Given the description of an element on the screen output the (x, y) to click on. 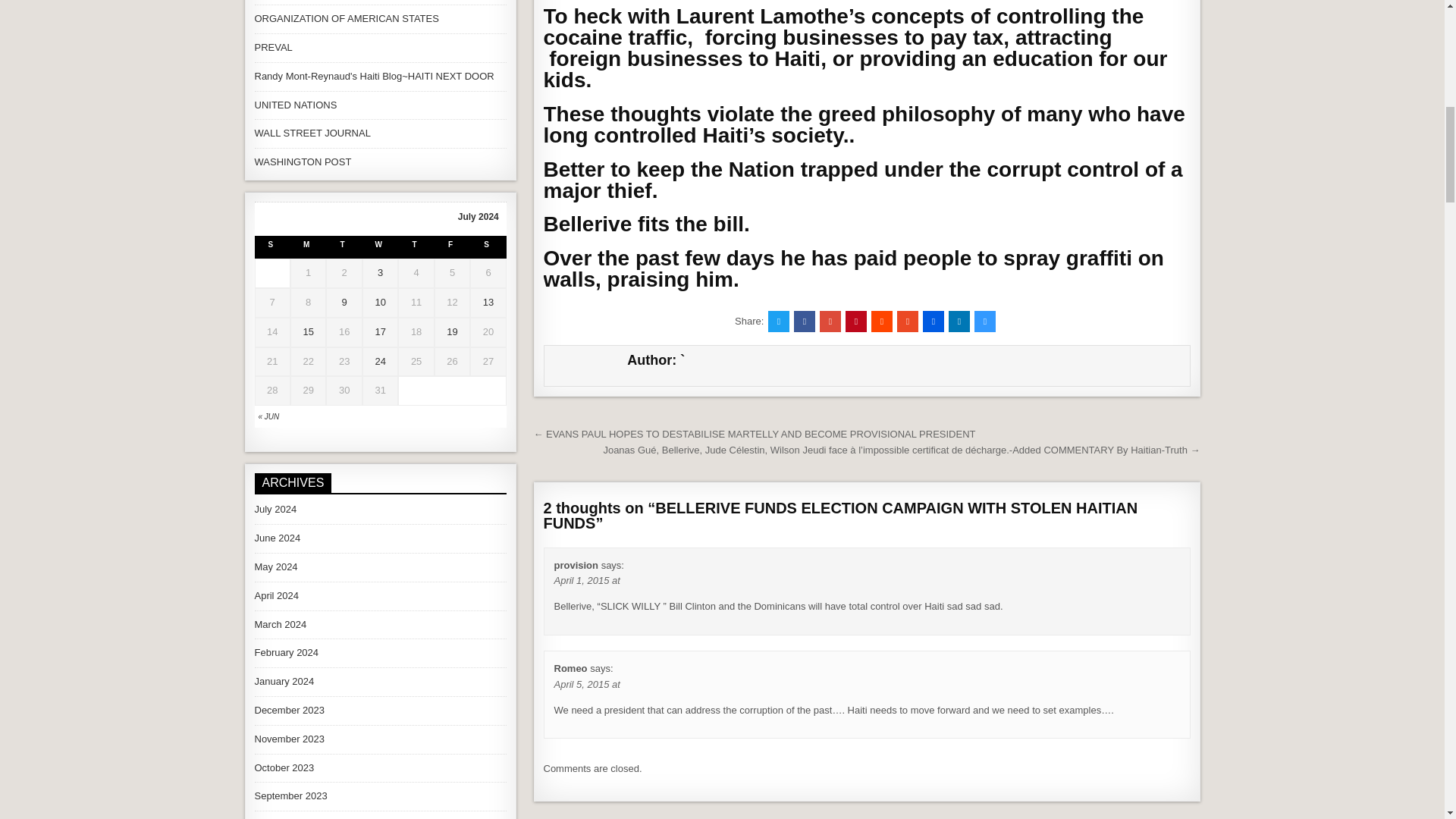
Tweet This! (778, 321)
April 5, 2015 at (586, 684)
Sunday (271, 246)
Share this on Reddit (881, 321)
Share this on Facebook (804, 321)
Share this on Linkedin (959, 321)
Share this on Stumbleupon (907, 321)
Share this on Digg (933, 321)
Share this on Pinterest (855, 321)
Share this on Delicious (984, 321)
April 1, 2015 at (586, 580)
